Given the description of an element on the screen output the (x, y) to click on. 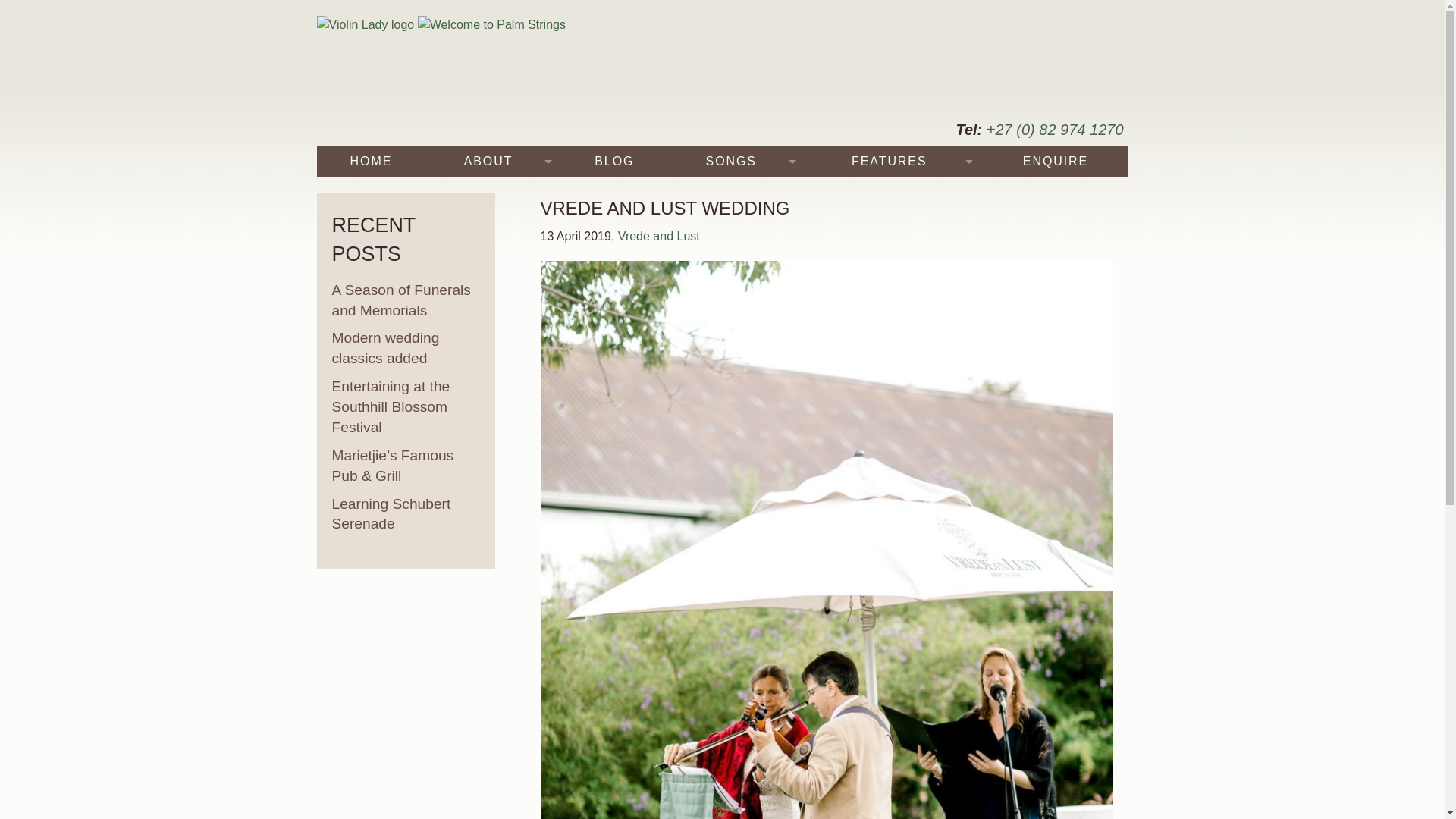
CLASSICAL (736, 313)
TESTIMONIALS (894, 252)
Vrede and Lust (658, 236)
ENQUIRE (1056, 161)
SONGS (736, 161)
Modern wedding classics added (406, 348)
A Season of Funerals and Memorials (406, 300)
TRADITIONAL WEDDING MUSIC (736, 222)
WORLD MUSIC (736, 404)
THE MEMBERS (493, 191)
